Given the description of an element on the screen output the (x, y) to click on. 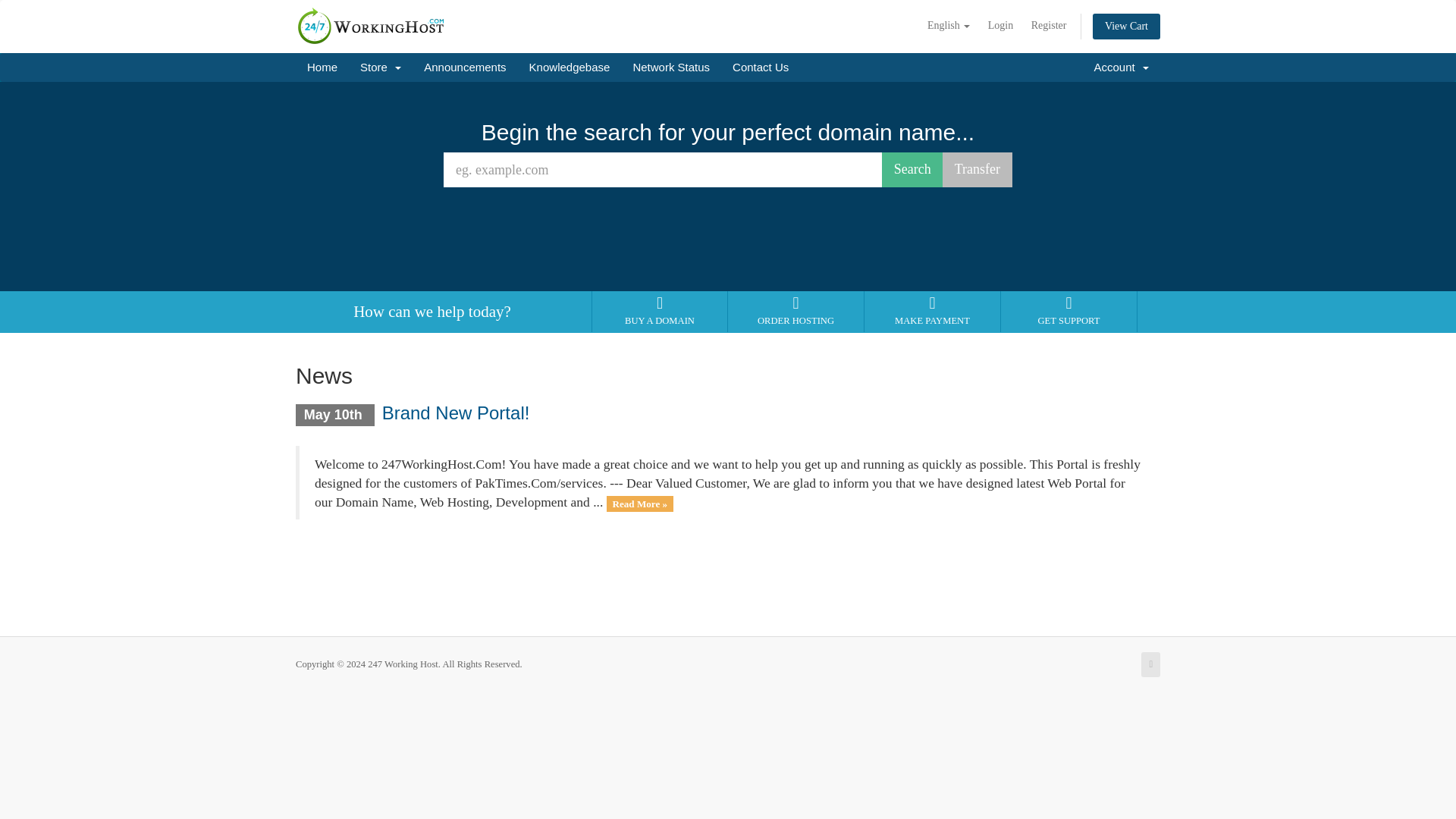
Search (912, 169)
Store   (380, 67)
English (948, 25)
Required (663, 169)
Home (322, 67)
Register (1048, 25)
Search (912, 169)
View Cart (1126, 26)
Login (999, 25)
Transfer (976, 169)
